Given the description of an element on the screen output the (x, y) to click on. 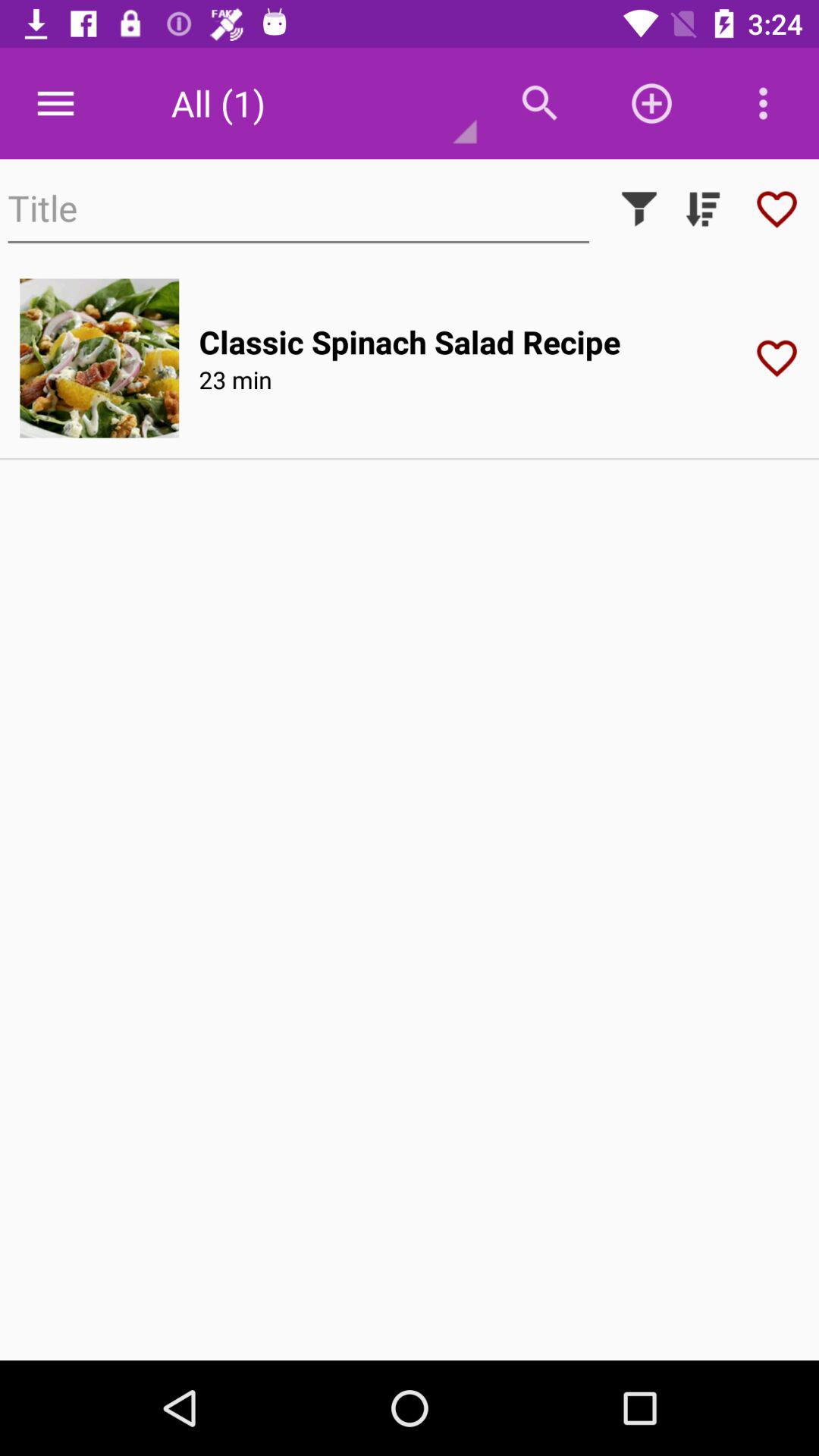
turn off icon next to the all (1) icon (55, 103)
